Given the description of an element on the screen output the (x, y) to click on. 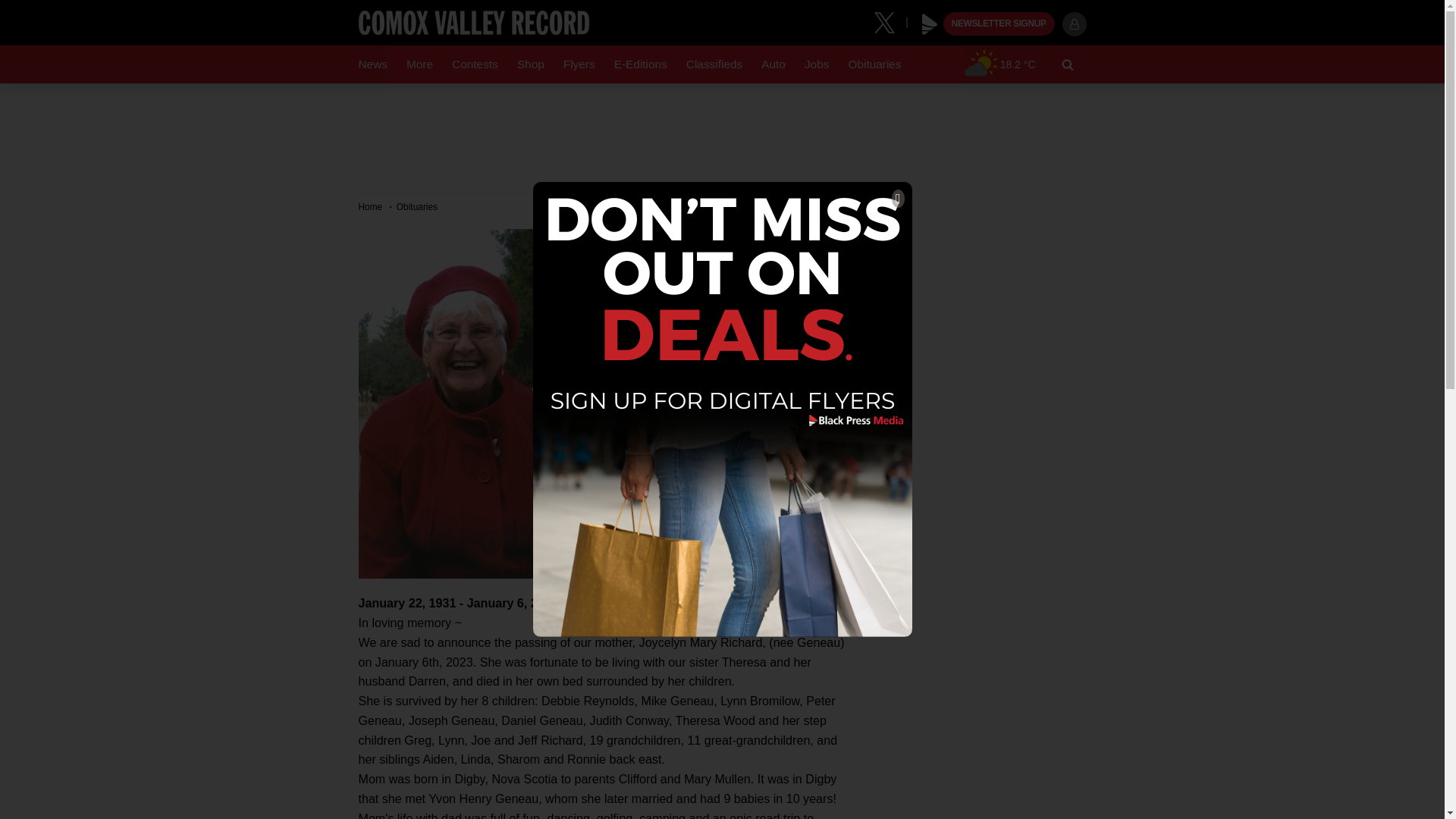
News (372, 64)
Black Press Media (929, 24)
NEWSLETTER SIGNUP (998, 24)
X (889, 21)
Play (929, 24)
